Given the description of an element on the screen output the (x, y) to click on. 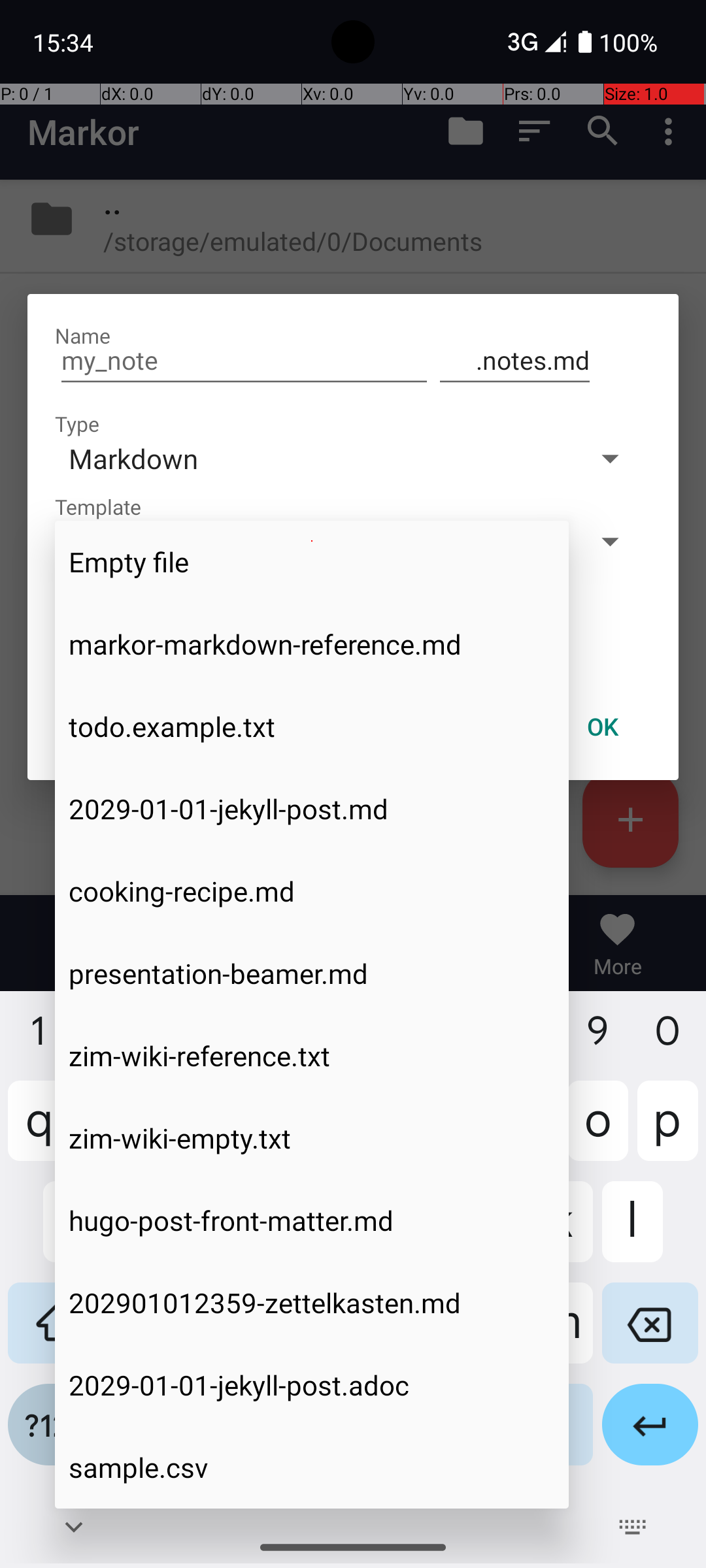
Empty file Element type: android.widget.CheckedTextView (311, 561)
markor-markdown-reference.md Element type: android.widget.CheckedTextView (311, 644)
todo.example.txt Element type: android.widget.CheckedTextView (311, 726)
2029-01-01-jekyll-post.md Element type: android.widget.CheckedTextView (311, 808)
cooking-recipe.md Element type: android.widget.CheckedTextView (311, 890)
presentation-beamer.md Element type: android.widget.CheckedTextView (311, 973)
zim-wiki-reference.txt Element type: android.widget.CheckedTextView (311, 1055)
zim-wiki-empty.txt Element type: android.widget.CheckedTextView (311, 1137)
hugo-post-front-matter.md Element type: android.widget.CheckedTextView (311, 1220)
202901012359-zettelkasten.md Element type: android.widget.CheckedTextView (311, 1302)
2029-01-01-jekyll-post.adoc Element type: android.widget.CheckedTextView (311, 1384)
sample.csv Element type: android.widget.CheckedTextView (311, 1467)
